Given the description of an element on the screen output the (x, y) to click on. 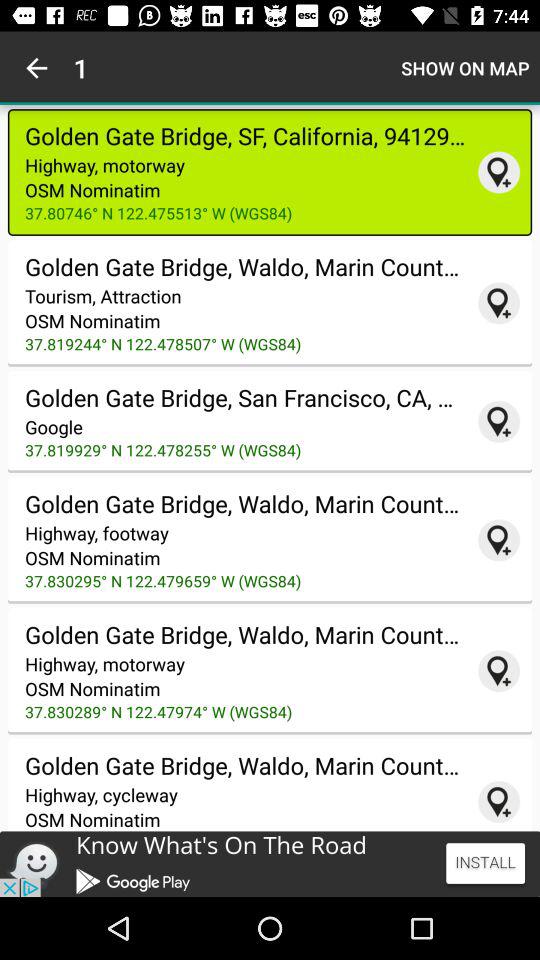
add to map (499, 540)
